Given the description of an element on the screen output the (x, y) to click on. 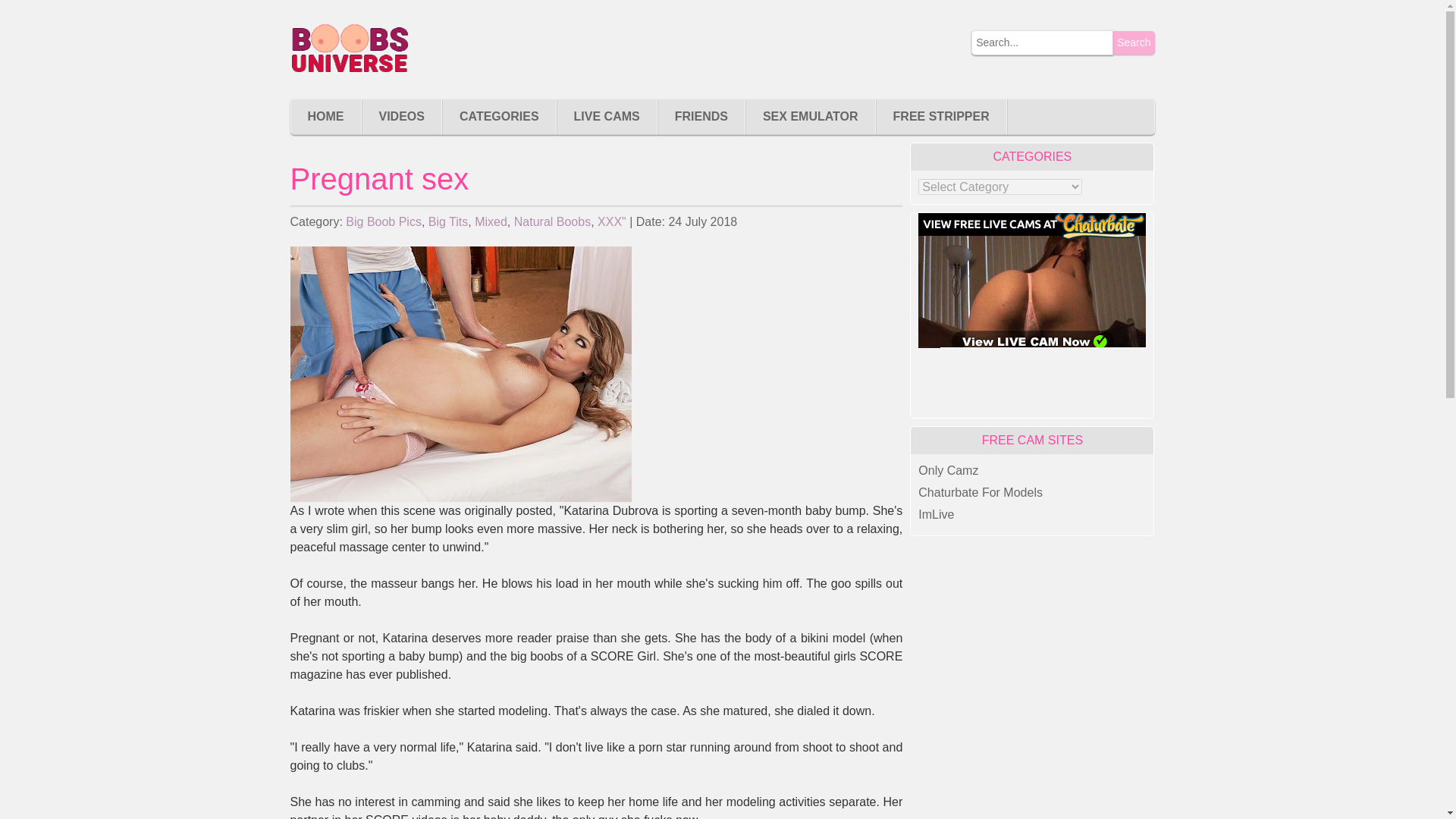
Chaturbate For Models (980, 492)
Only Camz (948, 470)
Search (1133, 42)
CATEGORIES (499, 116)
FRIENDS (701, 116)
Pregnant sex (459, 374)
ImLive (935, 513)
LIVE CAMS (606, 116)
Natural Boobs (552, 221)
Big Tits (447, 221)
Big Boob Pics (384, 221)
HOME (326, 116)
Search (1133, 42)
Mixed (490, 221)
FREE STRIPPER (941, 116)
